Given the description of an element on the screen output the (x, y) to click on. 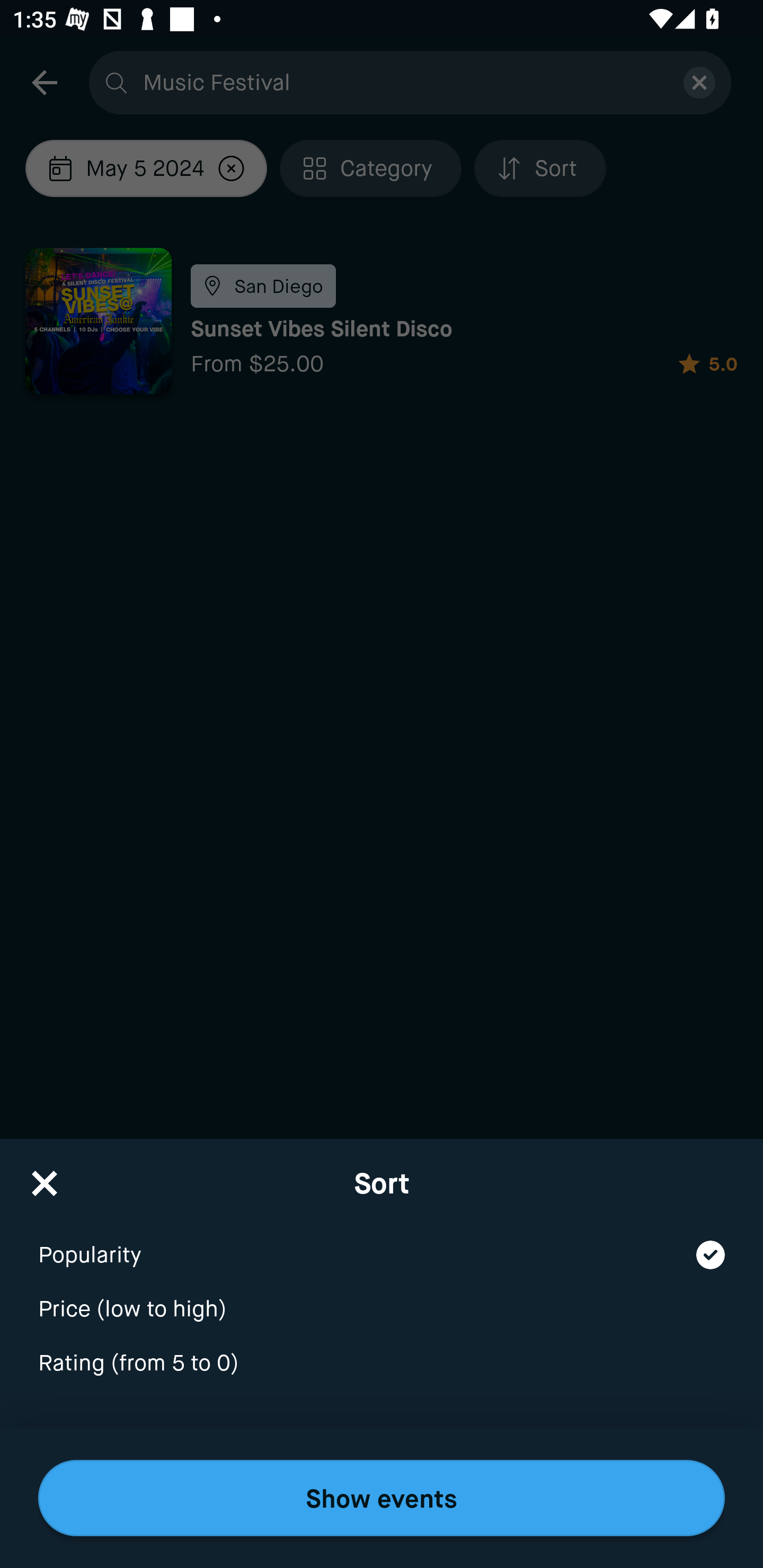
CloseButton (44, 1177)
Popularity Selected Icon (381, 1243)
Price (low to high) (381, 1297)
Rating (from 5 to 0) (381, 1362)
Show events (381, 1497)
